Given the description of an element on the screen output the (x, y) to click on. 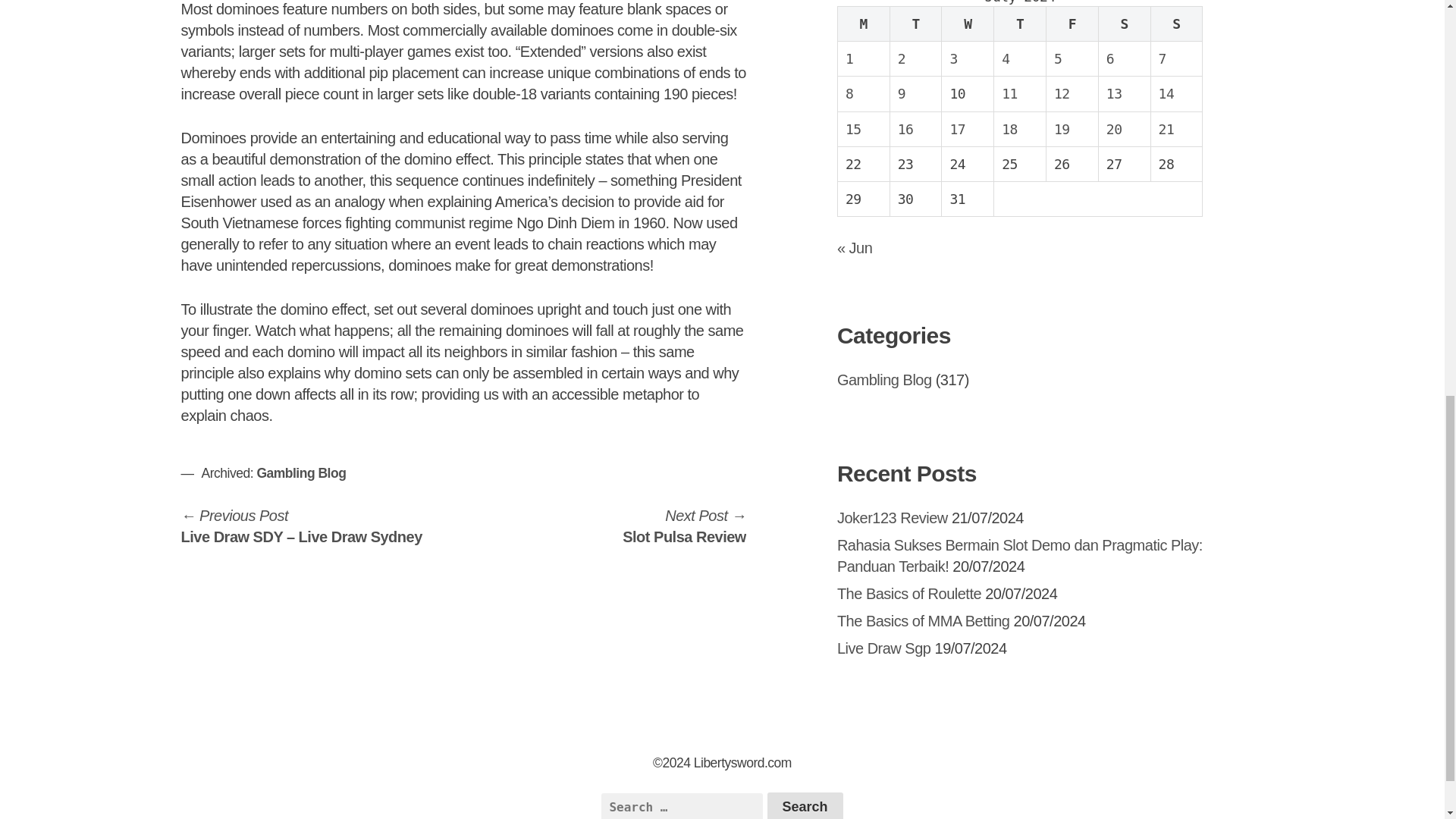
Tuesday (915, 23)
Gambling Blog (301, 473)
12 (1062, 93)
17 (957, 129)
11 (1009, 93)
Wednesday (968, 23)
Friday (1072, 23)
13 (1114, 93)
Monday (863, 23)
Sunday (1176, 23)
Search (805, 805)
Thursday (1020, 23)
Search (805, 805)
16 (906, 129)
15 (853, 129)
